Given the description of an element on the screen output the (x, y) to click on. 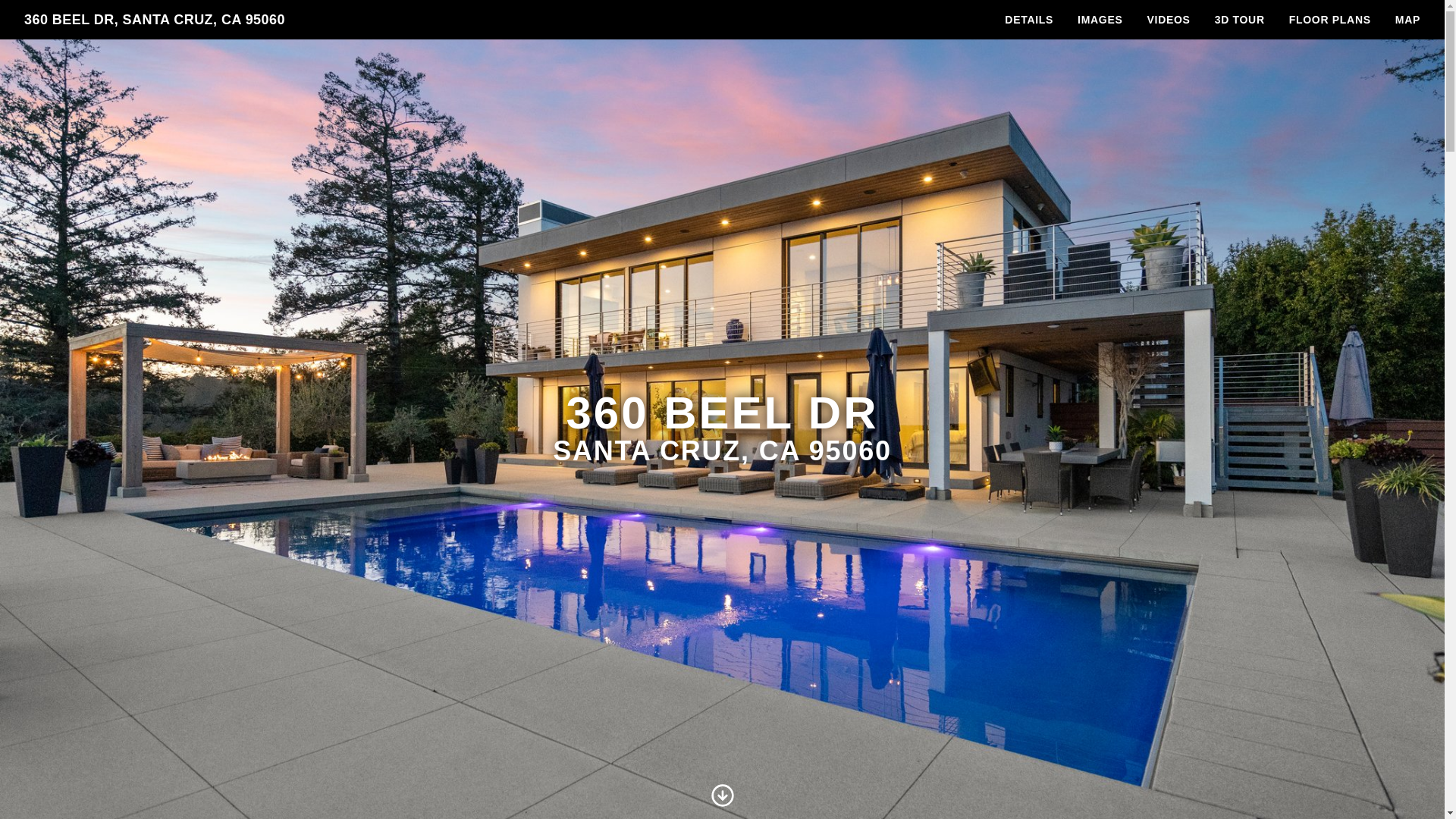
VIDEOS Element type: text (1168, 19)
FLOOR PLANS Element type: text (1330, 19)
360 BEEL DR, SANTA CRUZ, CA 95060 Element type: text (154, 19)
IMAGES Element type: text (1099, 19)
DETAILS Element type: text (1028, 19)
MAP Element type: text (1407, 19)
3D TOUR Element type: text (1239, 19)
